Given the description of an element on the screen output the (x, y) to click on. 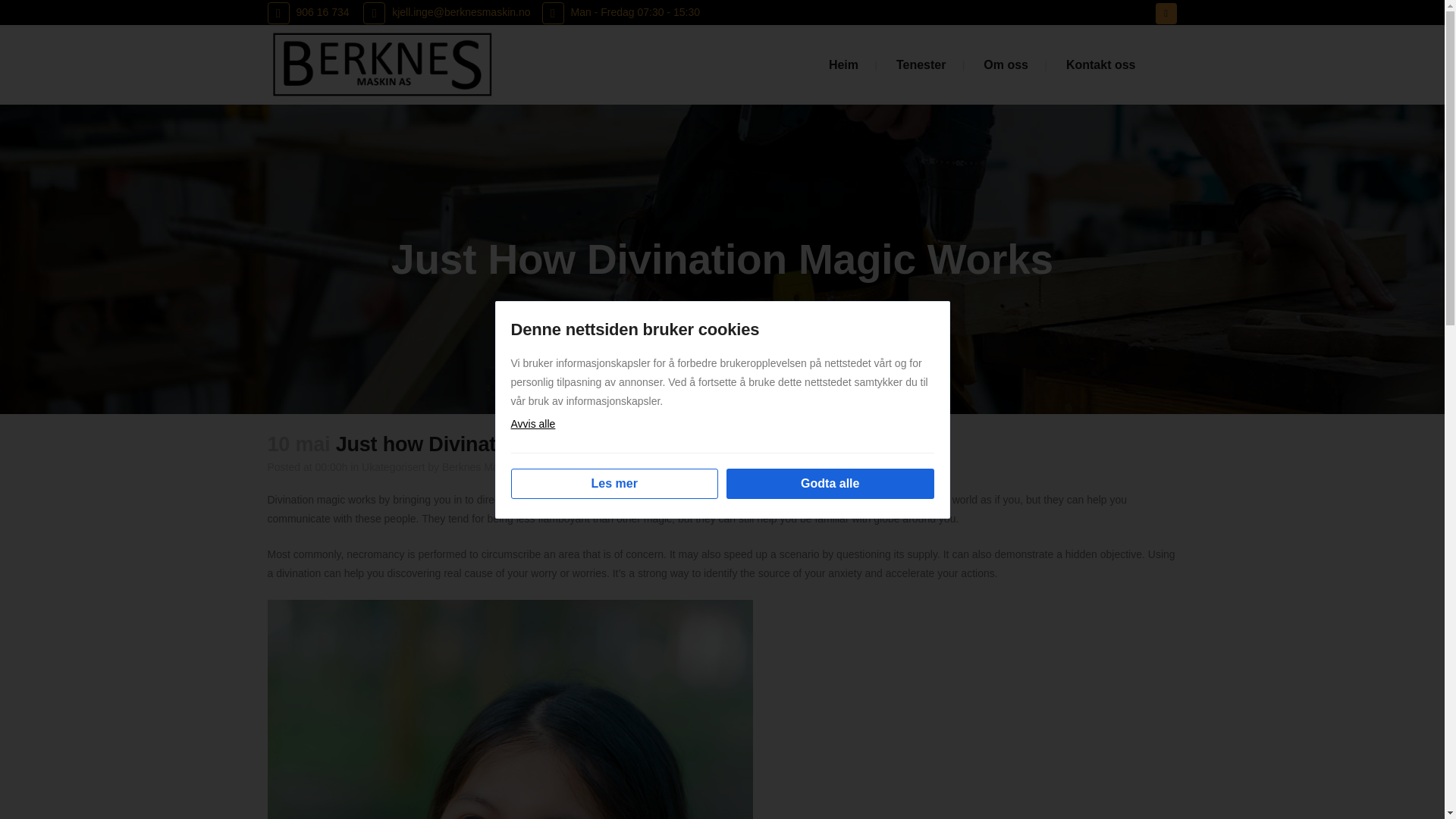
Ukategorisert (393, 467)
906 16 734 (307, 12)
0 Comments (559, 467)
Godta alle (829, 483)
Like this (622, 466)
Tenester (921, 64)
Om oss (1005, 64)
Berknes Maskin (480, 467)
Kontakt oss (1100, 64)
0 Likes (622, 466)
